Given the description of an element on the screen output the (x, y) to click on. 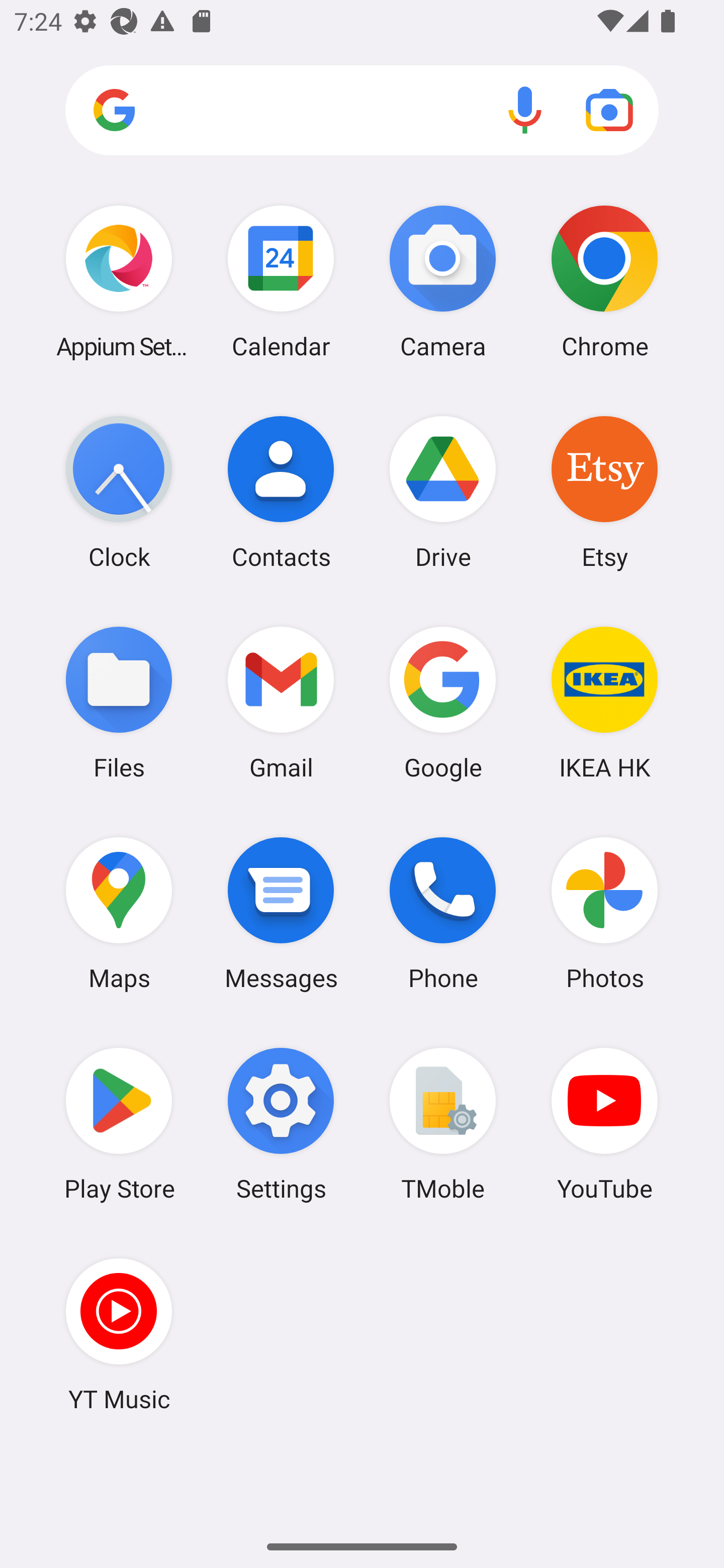
Search apps, web and more (361, 110)
Voice search (524, 109)
Google Lens (608, 109)
Appium Settings (118, 281)
Calendar (280, 281)
Camera (443, 281)
Chrome (604, 281)
Clock (118, 492)
Contacts (280, 492)
Drive (443, 492)
Etsy (604, 492)
Files (118, 702)
Gmail (280, 702)
Google (443, 702)
IKEA HK (604, 702)
Maps (118, 913)
Messages (280, 913)
Phone (443, 913)
Photos (604, 913)
Play Store (118, 1124)
Settings (280, 1124)
TMoble (443, 1124)
YouTube (604, 1124)
YT Music (118, 1334)
